Given the description of an element on the screen output the (x, y) to click on. 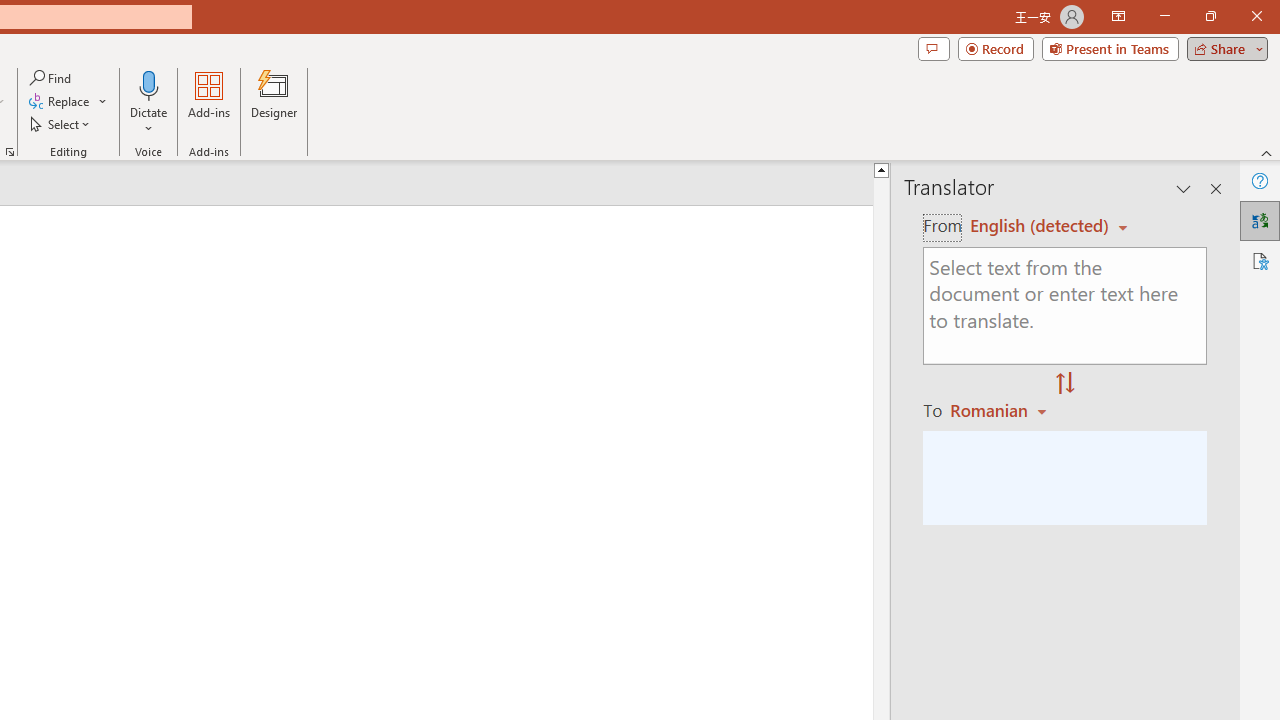
Swap "from" and "to" languages. (1065, 383)
